Given the description of an element on the screen output the (x, y) to click on. 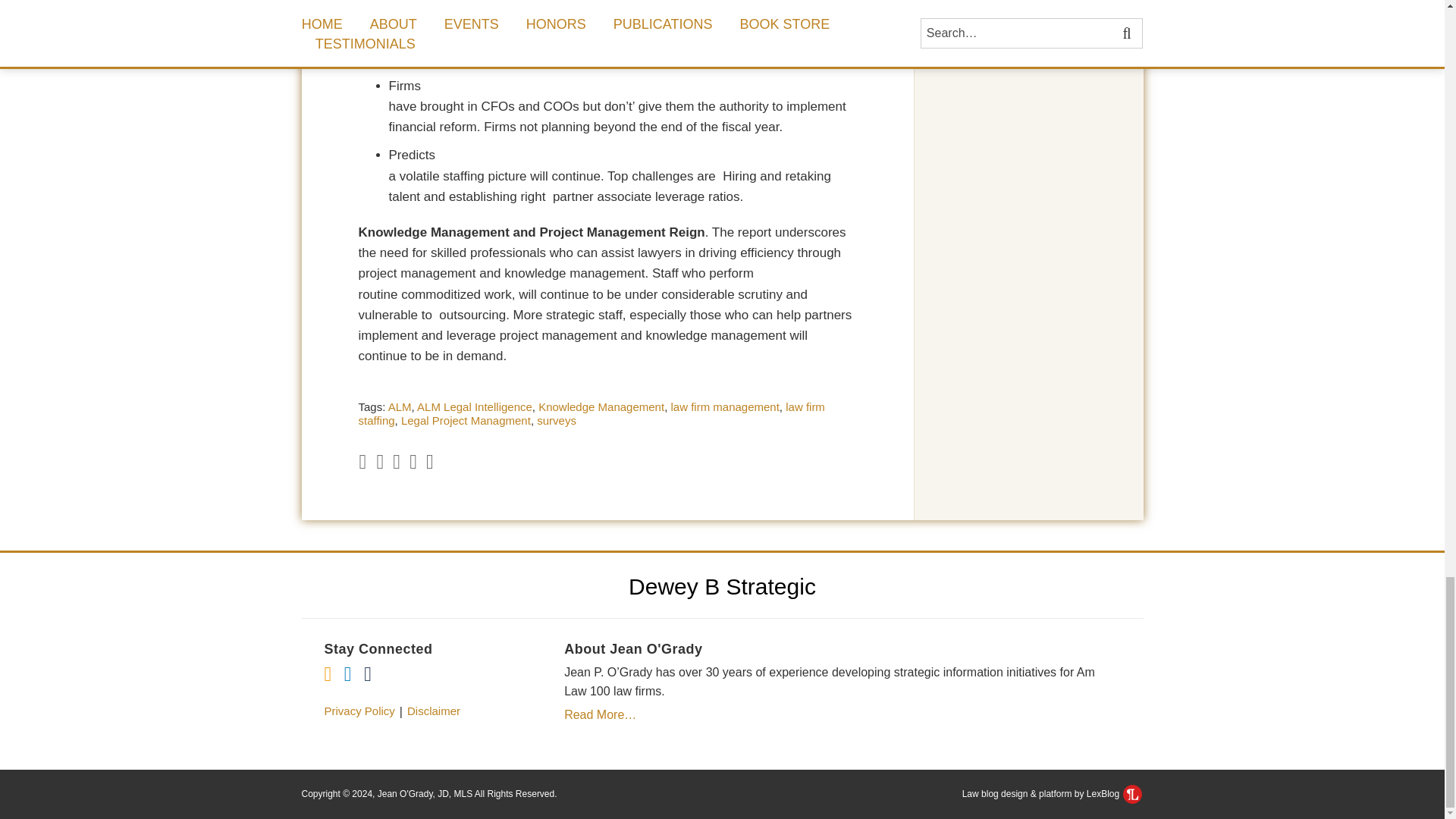
Dewey B Strategic (721, 585)
Privacy Policy (359, 710)
law firm management (723, 406)
ALM Legal Intelligence (474, 406)
surveys (556, 420)
ALM (400, 406)
Legal Project Managment (466, 420)
LexBlog Logo (1131, 793)
law firm staffing (591, 413)
Knowledge Management (600, 406)
